Given the description of an element on the screen output the (x, y) to click on. 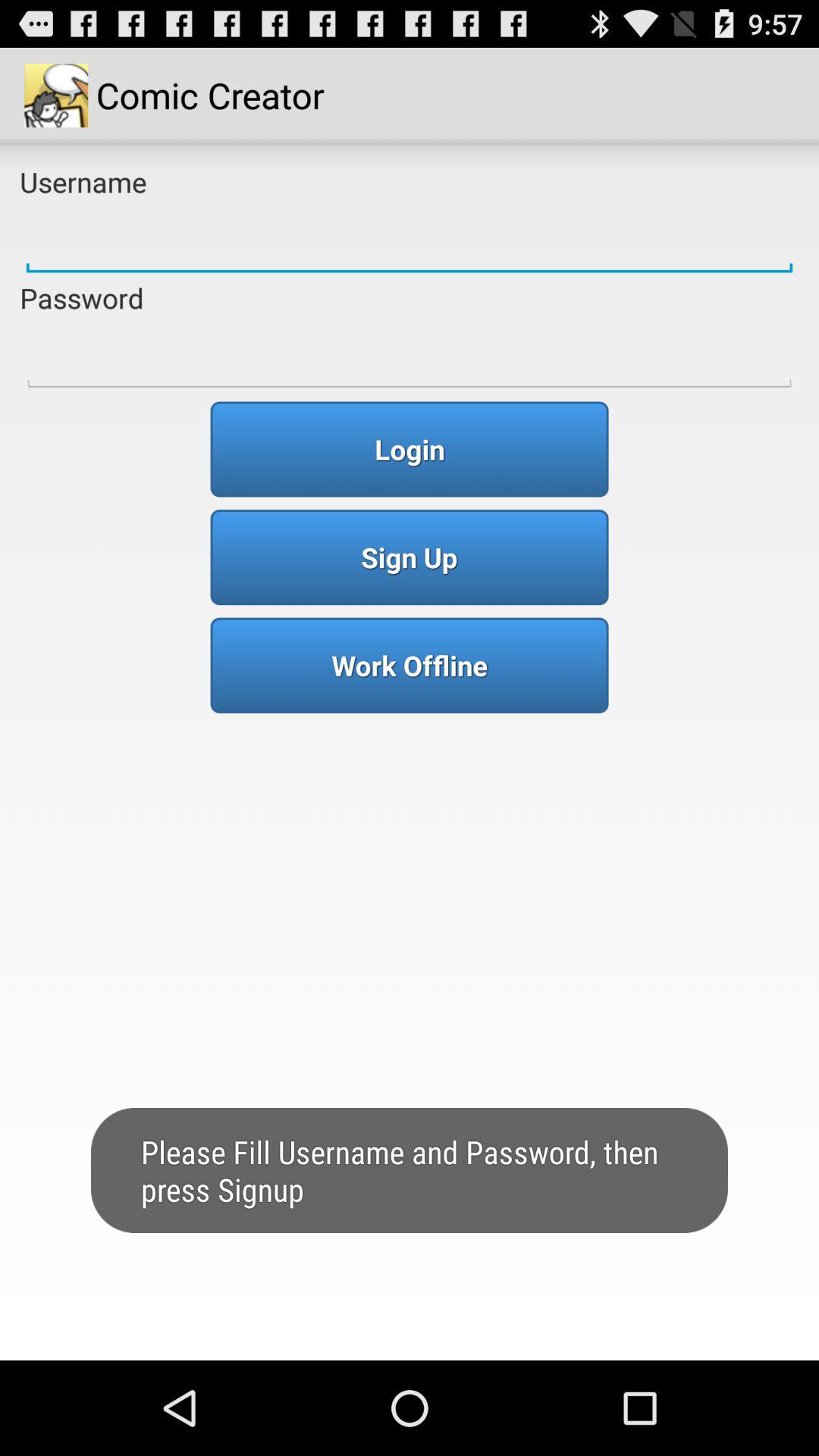
enter password (409, 355)
